Given the description of an element on the screen output the (x, y) to click on. 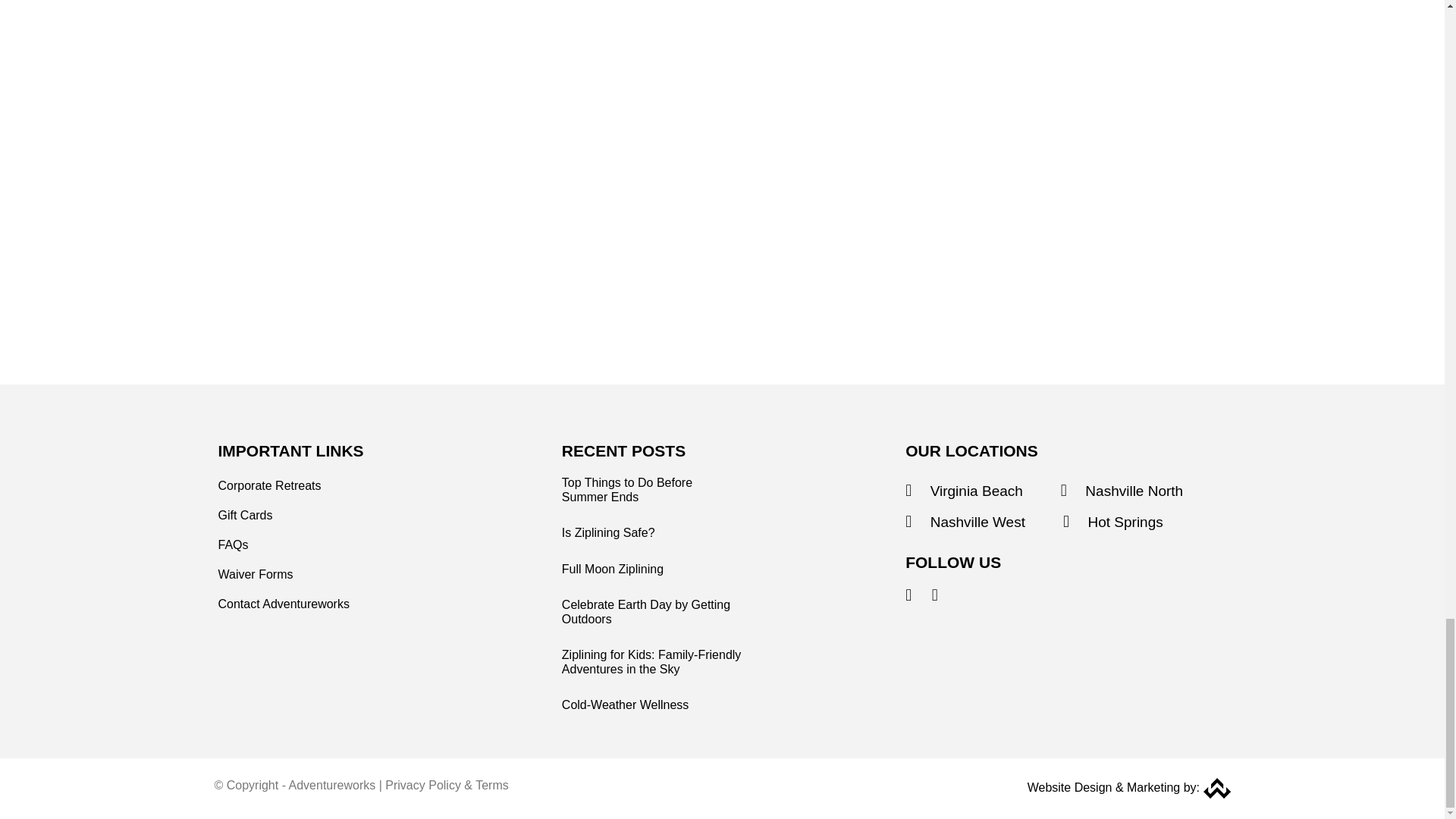
Corporate Retreats (269, 485)
Contact Adventureworks (283, 604)
Gift Cards (245, 515)
Waiver Forms (256, 574)
FAQs (233, 544)
